Given the description of an element on the screen output the (x, y) to click on. 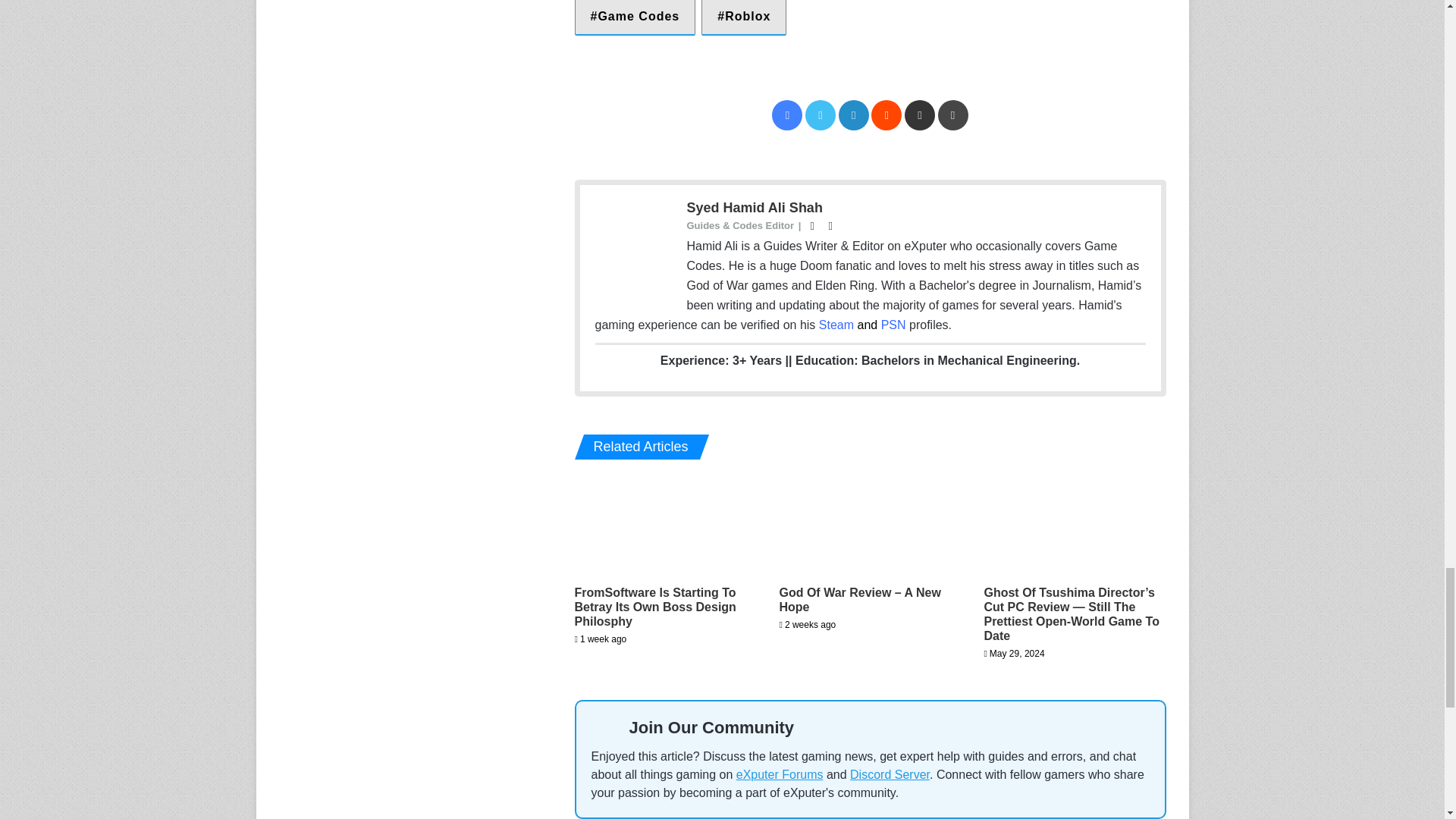
Print (952, 114)
Facebook (786, 114)
Reddit (885, 114)
LinkedIn (853, 114)
Share via Email (919, 114)
Twitter (820, 114)
